Given the description of an element on the screen output the (x, y) to click on. 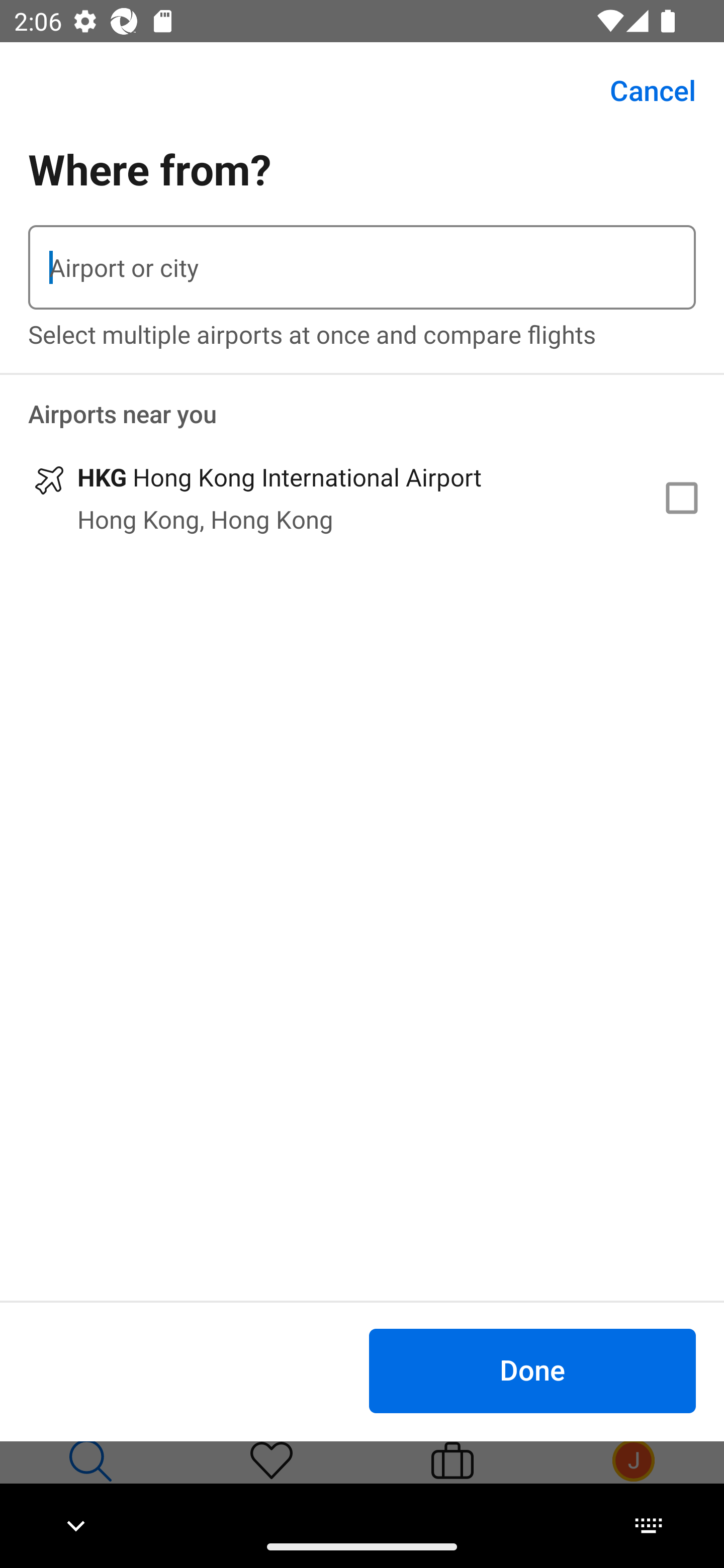
Cancel (641, 90)
Airport or city (361, 266)
Done (532, 1370)
